Given the description of an element on the screen output the (x, y) to click on. 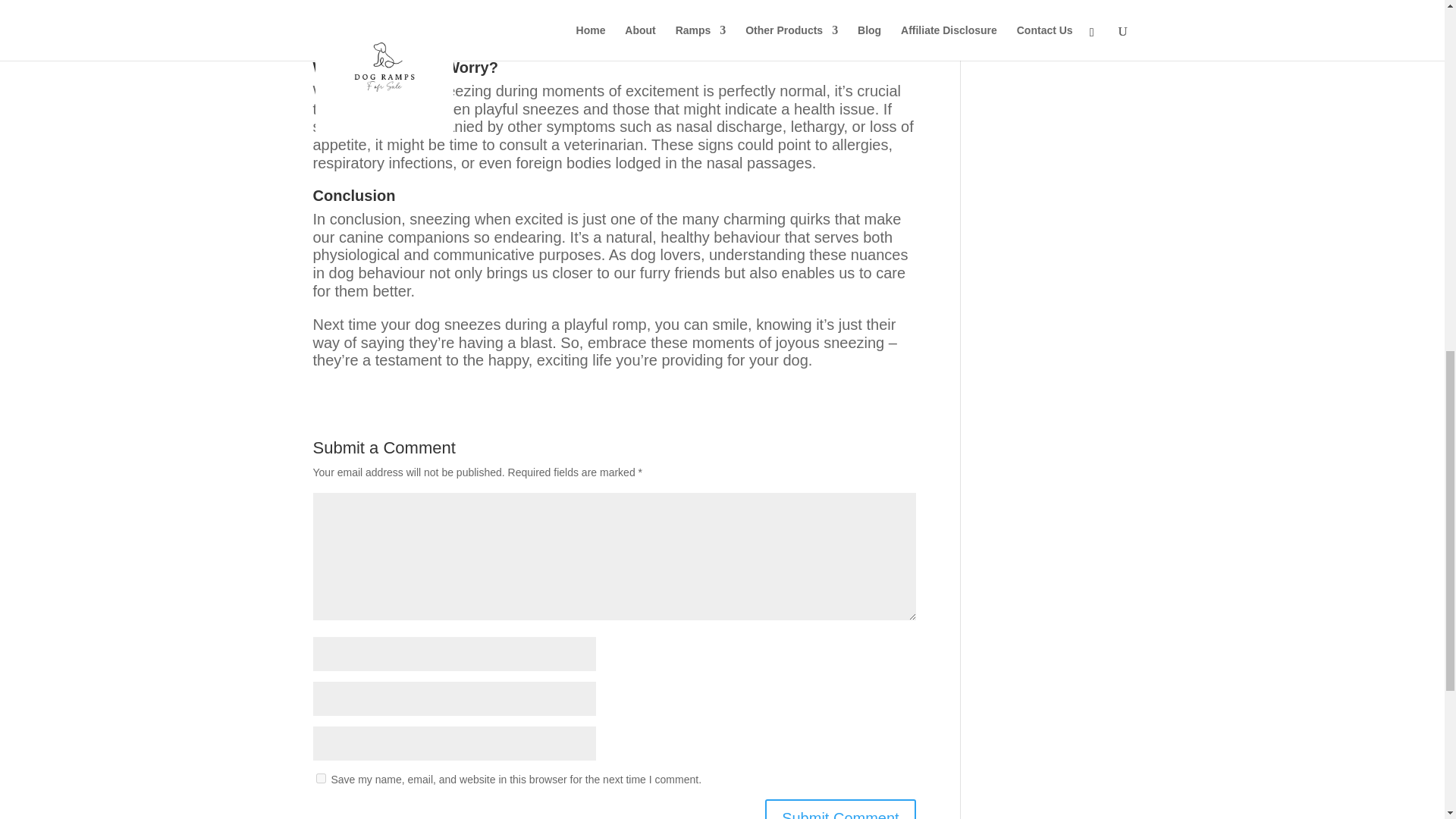
Submit Comment (840, 809)
Submit Comment (840, 809)
yes (319, 777)
